Given the description of an element on the screen output the (x, y) to click on. 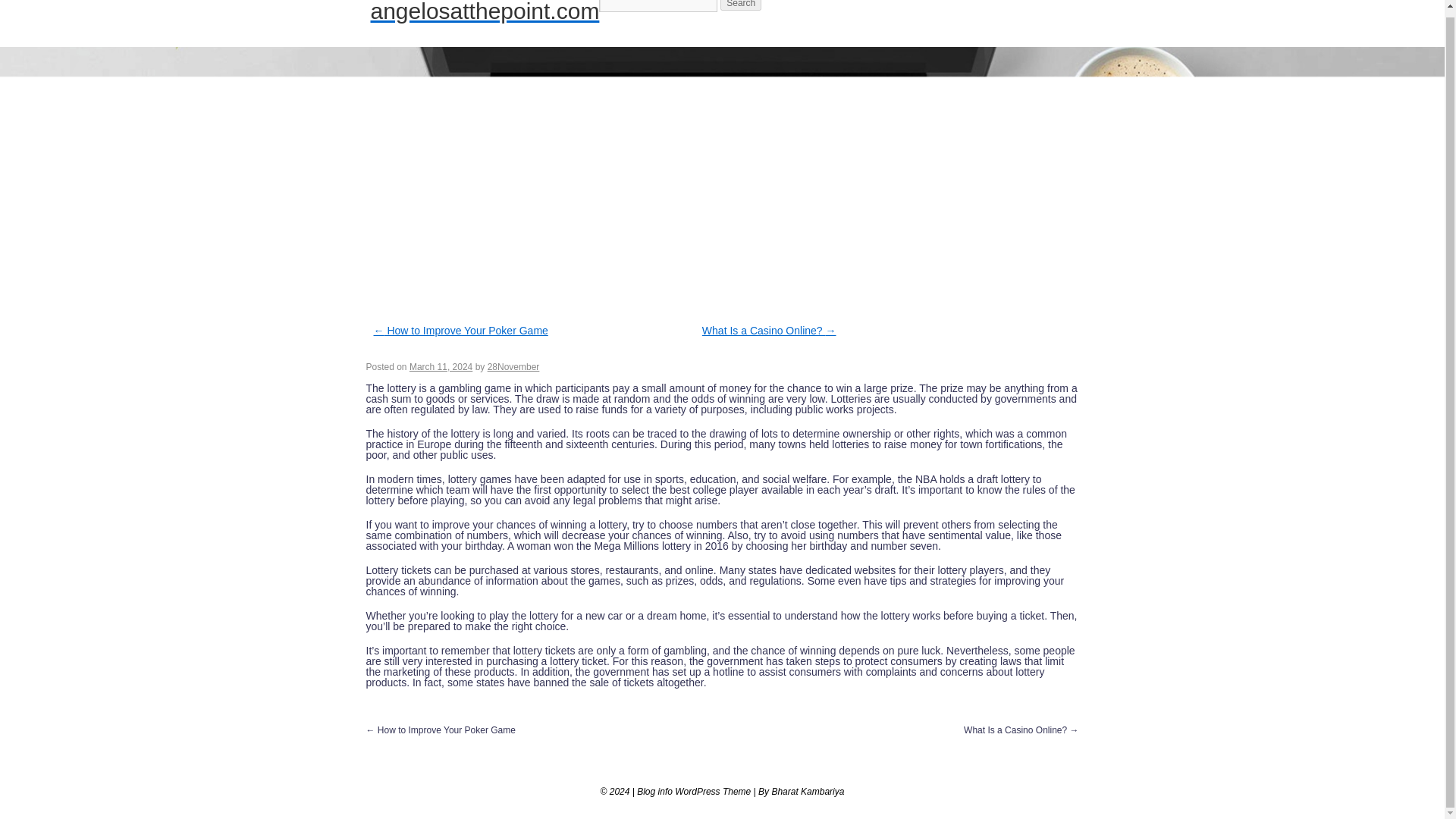
March 11, 2024 (440, 366)
9:06 am (440, 366)
Search (740, 5)
angelosatthepoint.com (483, 11)
View all posts by 28November (513, 366)
Search (740, 5)
28November (513, 366)
